Given the description of an element on the screen output the (x, y) to click on. 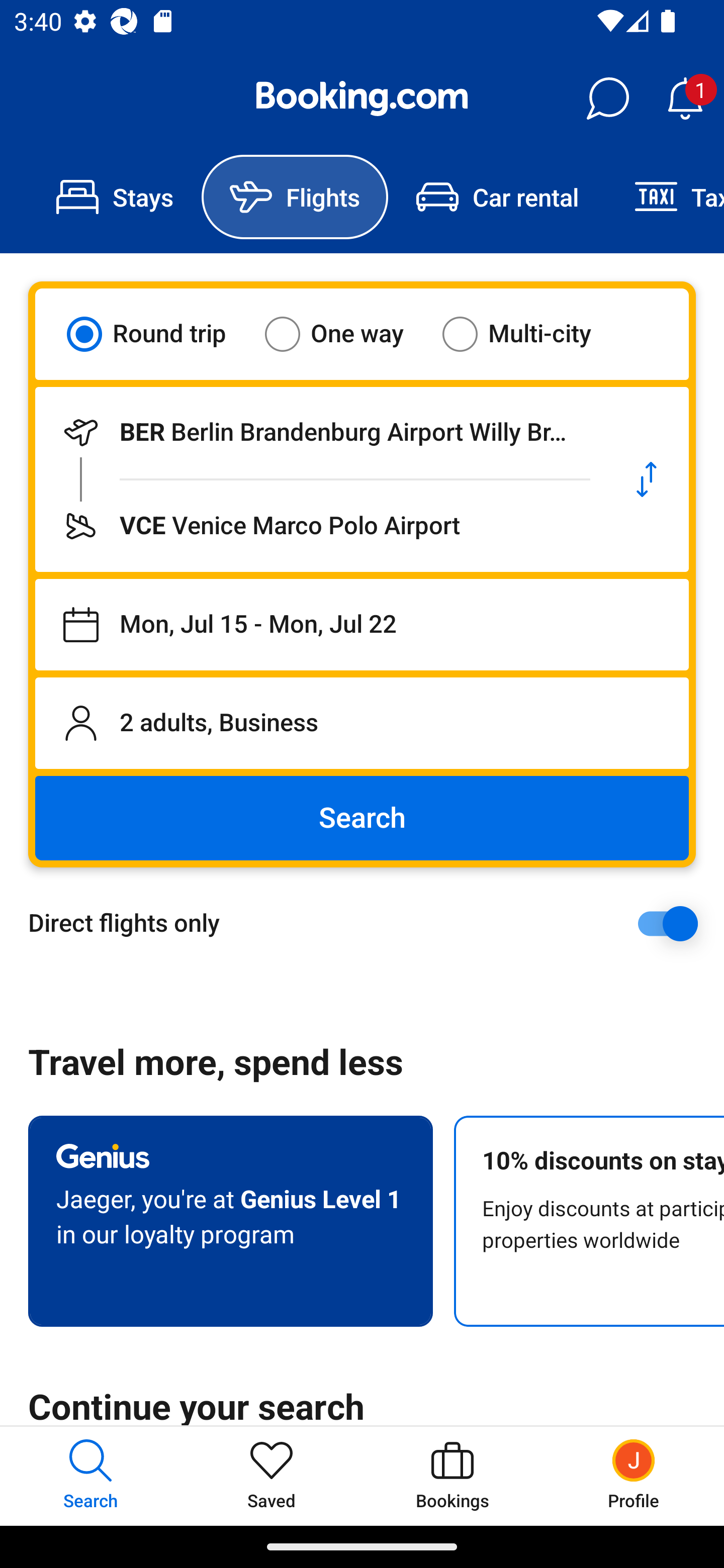
Messages (607, 98)
Notifications (685, 98)
Stays (114, 197)
Flights (294, 197)
Car rental (497, 197)
Taxi (665, 197)
One way (346, 333)
Multi-city (528, 333)
Swap departure location and destination (646, 479)
Flying to VCE Venice Marco Polo Airport (319, 525)
Departing on Mon, Jul 15, returning on Mon, Jul 22 (361, 624)
2 adults, Business (361, 722)
Search (361, 818)
Direct flights only (369, 923)
Saved (271, 1475)
Bookings (452, 1475)
Profile (633, 1475)
